Given the description of an element on the screen output the (x, y) to click on. 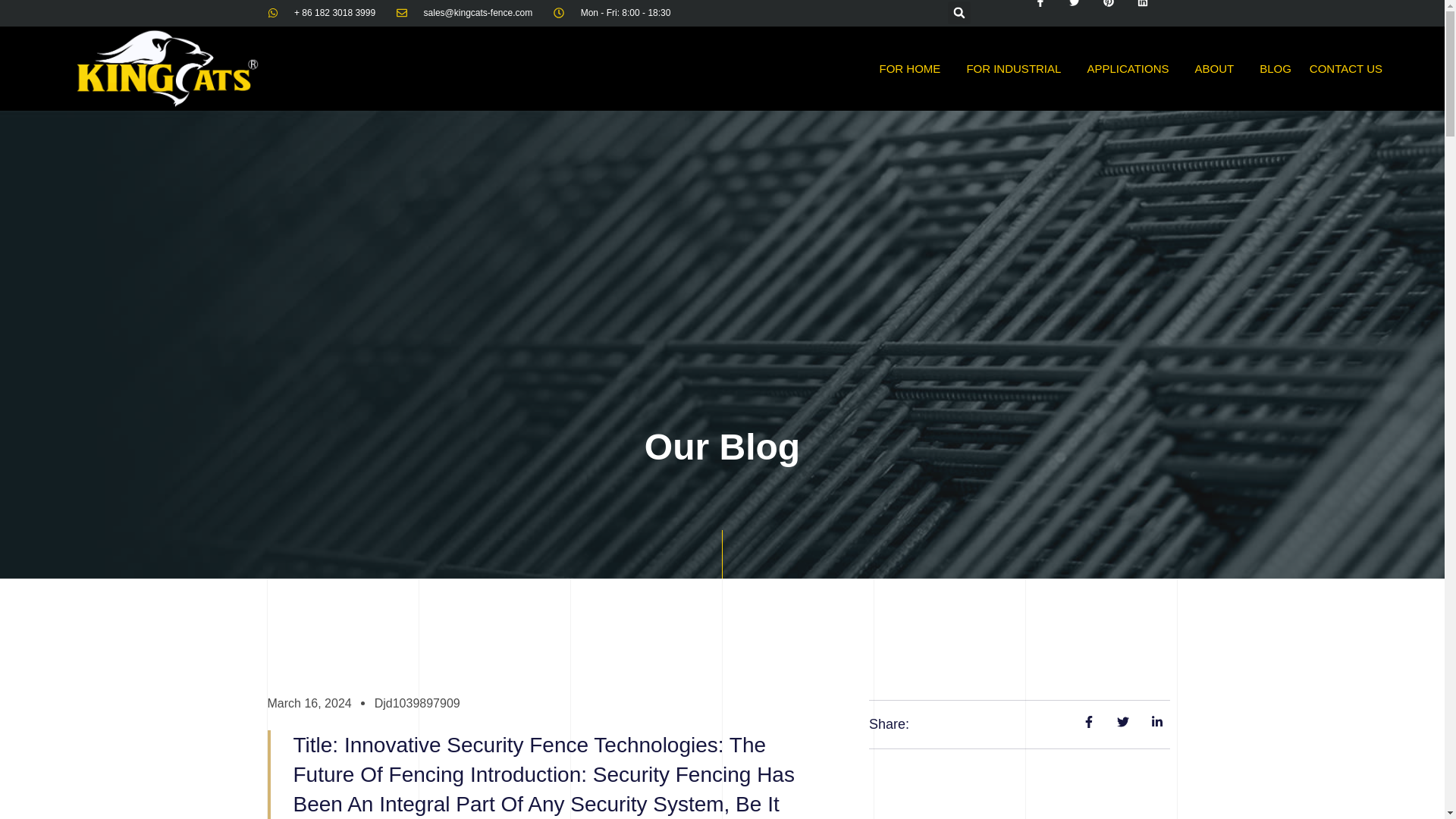
FOR HOME (914, 67)
FOR INDUSTRIAL (1016, 67)
